Given the description of an element on the screen output the (x, y) to click on. 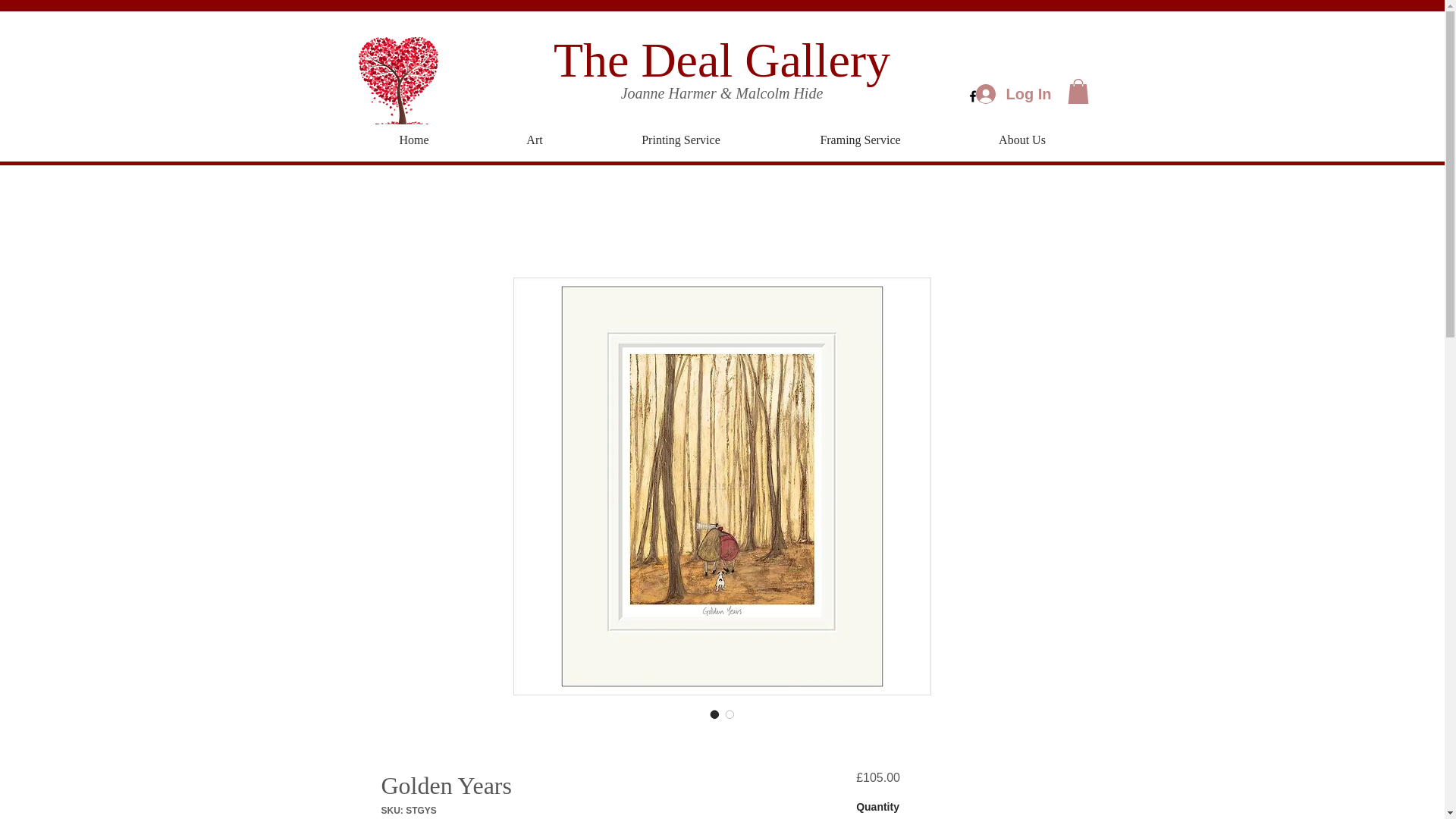
The Deal Gallery (721, 59)
Printing Service (680, 139)
Art (534, 139)
Framing Service (860, 139)
Home (413, 139)
Log In (1009, 93)
About Us (1022, 139)
